Given the description of an element on the screen output the (x, y) to click on. 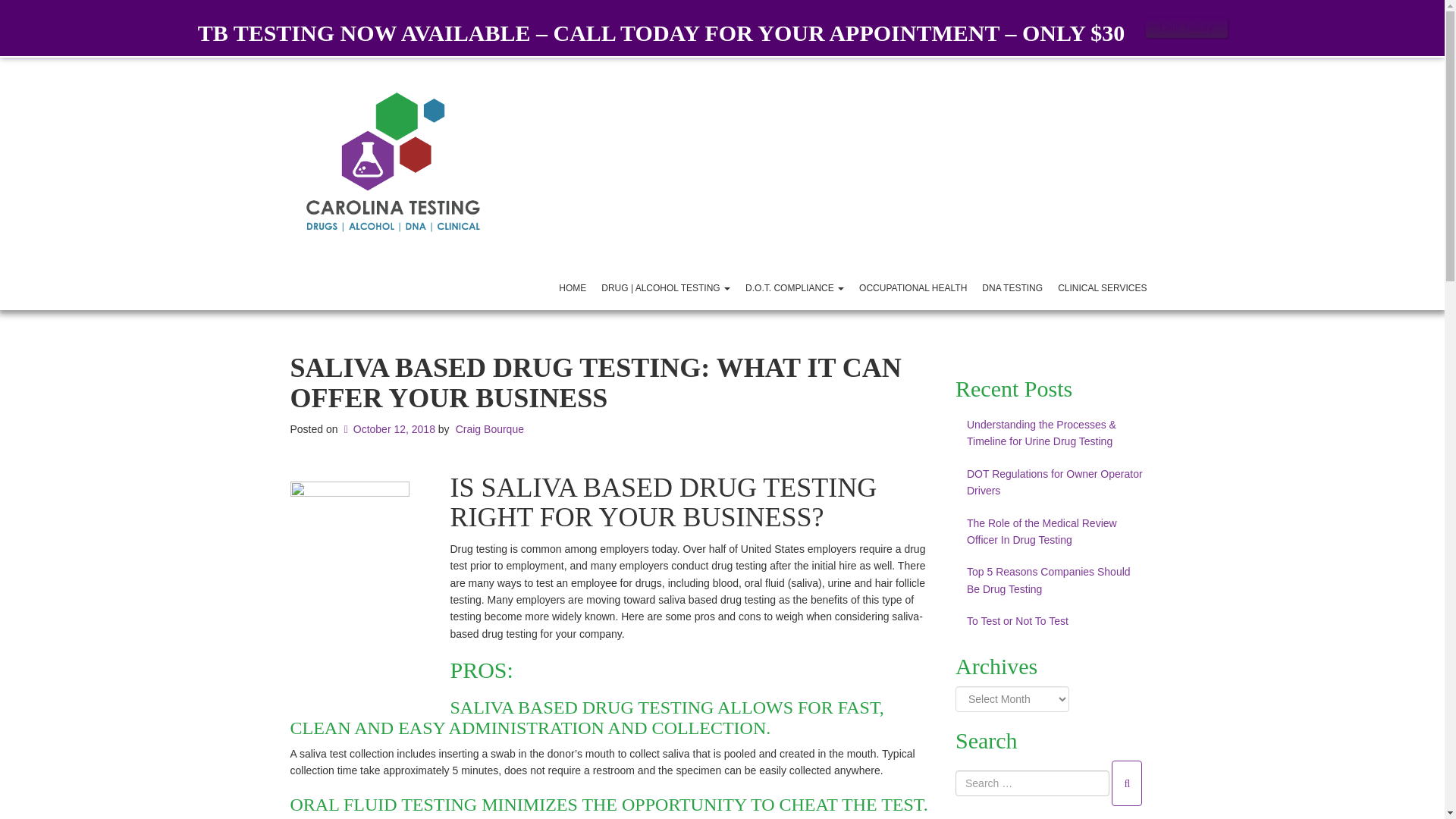
DOT Regulations for Owner Operator Drivers (1054, 481)
D.O.T. COMPLIANCE (794, 287)
CLINICAL SERVICES (1101, 287)
Craig Bourque (489, 428)
Top 5 Reasons Companies Should Be Drug Testing (1054, 580)
SALIVA BASED DRUG TESTING: WHAT IT CAN OFFER YOUR BUSINESS (595, 396)
HOME (572, 287)
To Test or Not To Test (1054, 621)
October 12, 2018 (387, 428)
The Role of the Medical Review Officer In Drug Testing (1054, 531)
